Given the description of an element on the screen output the (x, y) to click on. 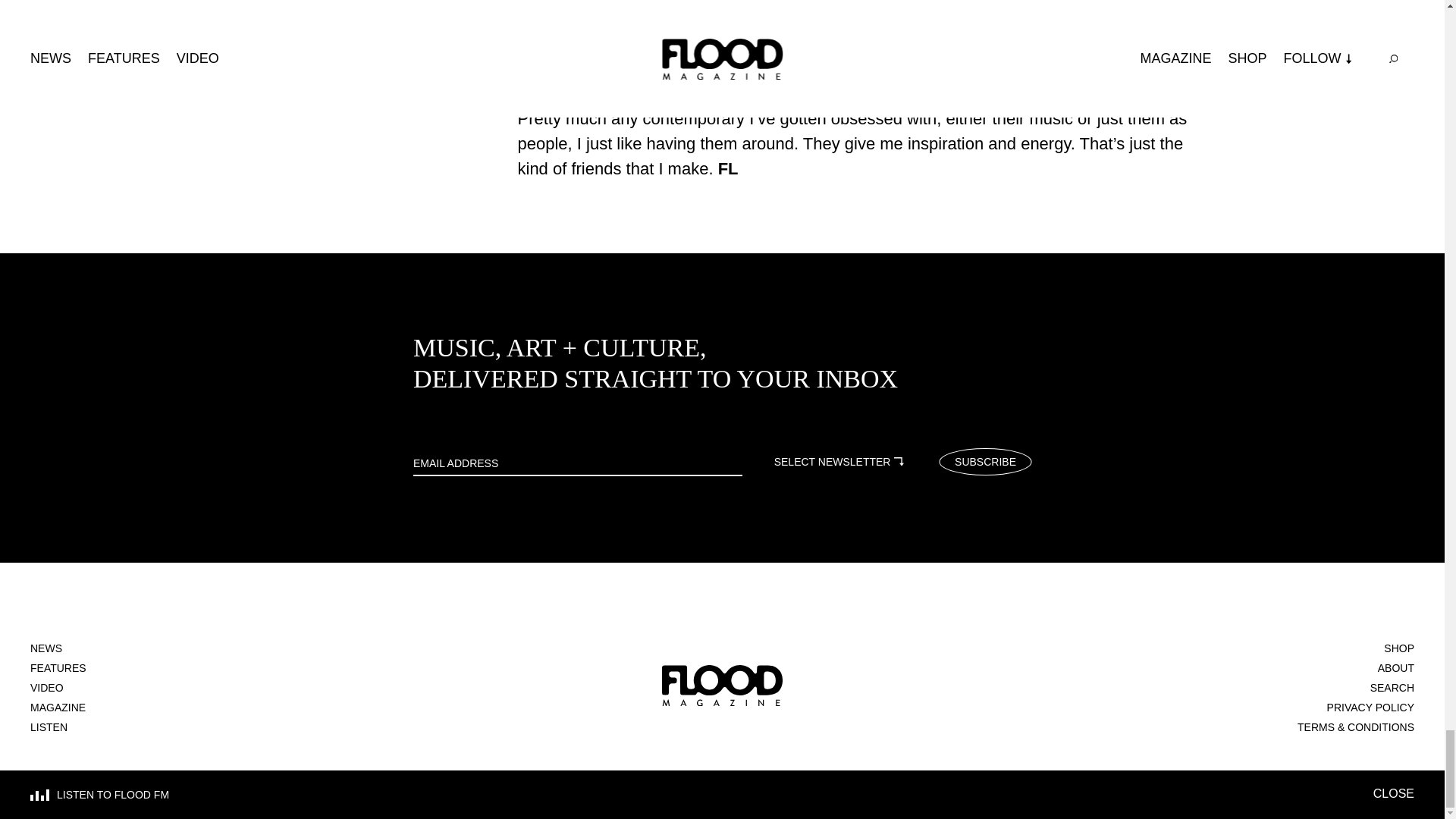
NEWS (46, 648)
FEATURES (57, 668)
SUBSCRIBE (984, 461)
